Given the description of an element on the screen output the (x, y) to click on. 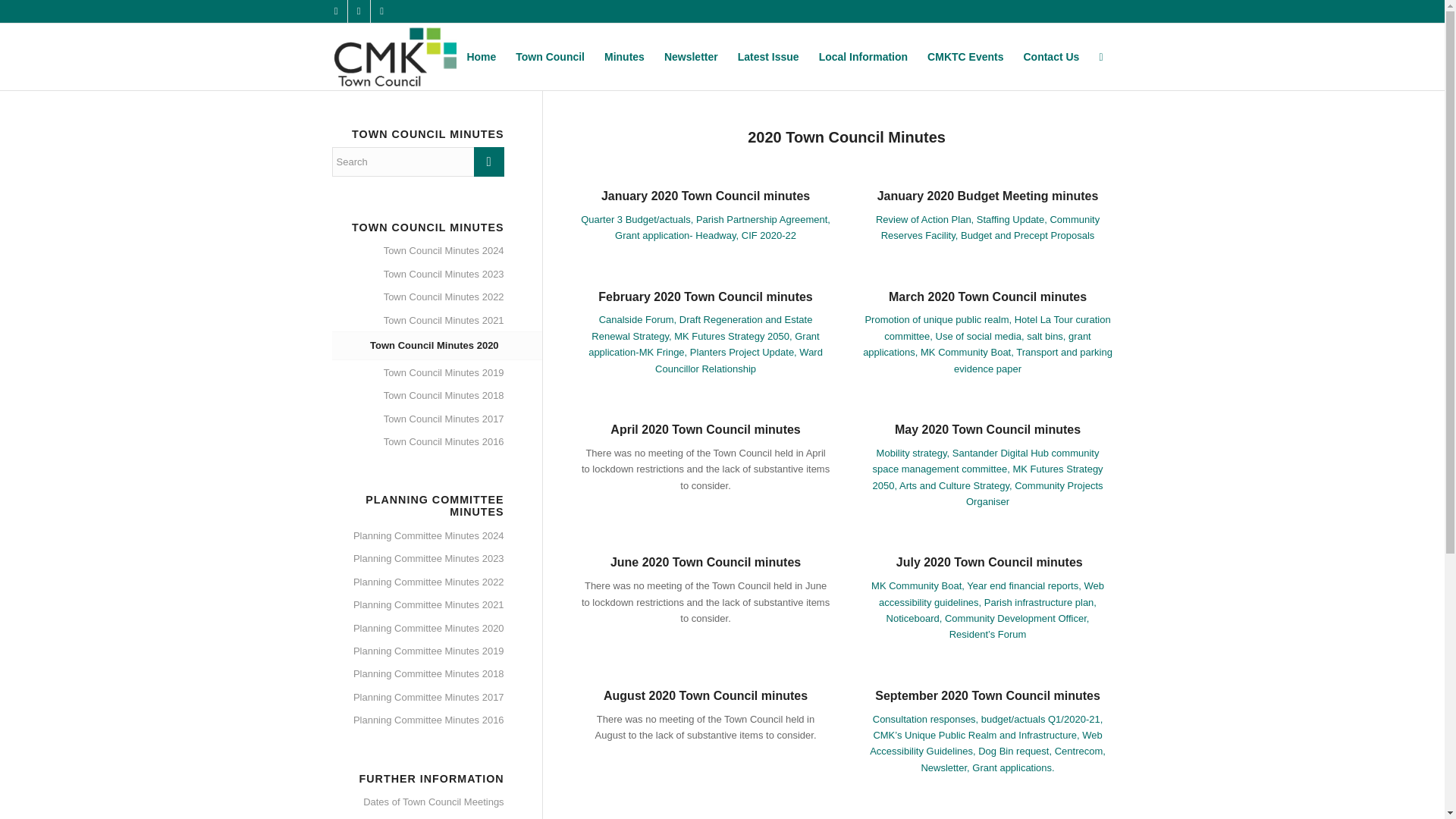
January 2020 Town Council minutes (705, 195)
Twitter (335, 11)
January 2020 Budget Meeting minutes (988, 195)
Latest Issue (768, 56)
Town Council (549, 56)
Contact Us (1051, 56)
Newsletter (690, 56)
Local Information (863, 56)
Mail (381, 11)
Facebook (358, 11)
CMKTC Events (965, 56)
Minutes (623, 56)
February 2020 Town Council minutes (705, 296)
